Given the description of an element on the screen output the (x, y) to click on. 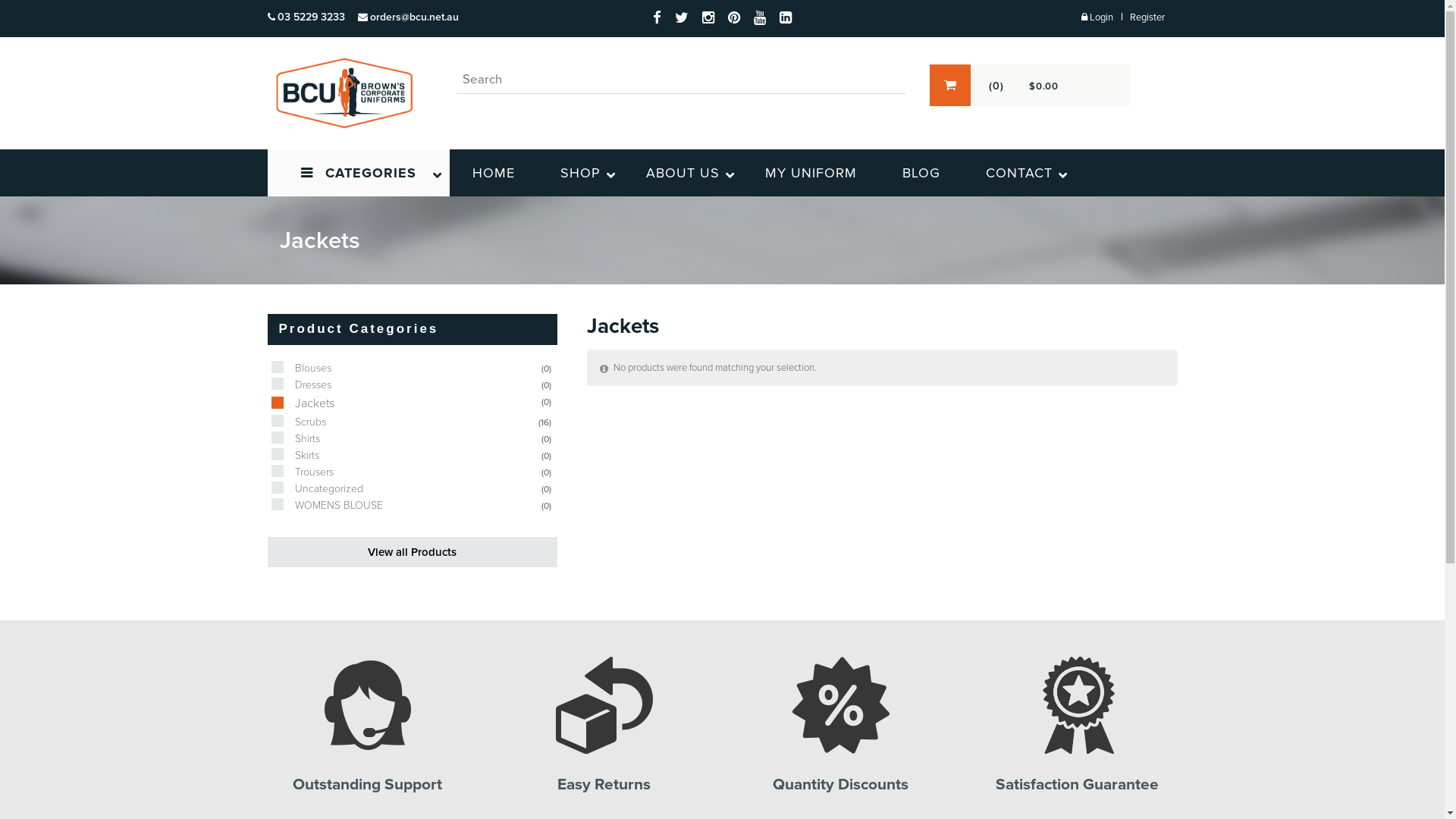
(0) $0.00 Element type: text (993, 86)
BLOG Element type: text (921, 172)
Skirts Element type: text (292, 454)
Trousers Element type: text (299, 471)
CONTACT Element type: text (1019, 172)
CATEGORIES Element type: text (357, 172)
Shirts Element type: text (292, 438)
ABOUT US Element type: text (682, 172)
MY UNIFORM Element type: text (809, 172)
03 5229 3233 Element type: text (305, 17)
View all Products Element type: text (411, 551)
Jackets Element type: text (299, 403)
Blouses Element type: text (298, 367)
SHOP Element type: text (579, 172)
Dresses Element type: text (298, 384)
HOME Element type: text (492, 172)
orders@bcu.net.au Element type: text (407, 17)
WOMENS BLOUSE Element type: text (324, 504)
Login Element type: text (1097, 17)
Scrubs Element type: text (295, 421)
Uncategorized Element type: text (314, 488)
Register Element type: text (1146, 17)
